Given the description of an element on the screen output the (x, y) to click on. 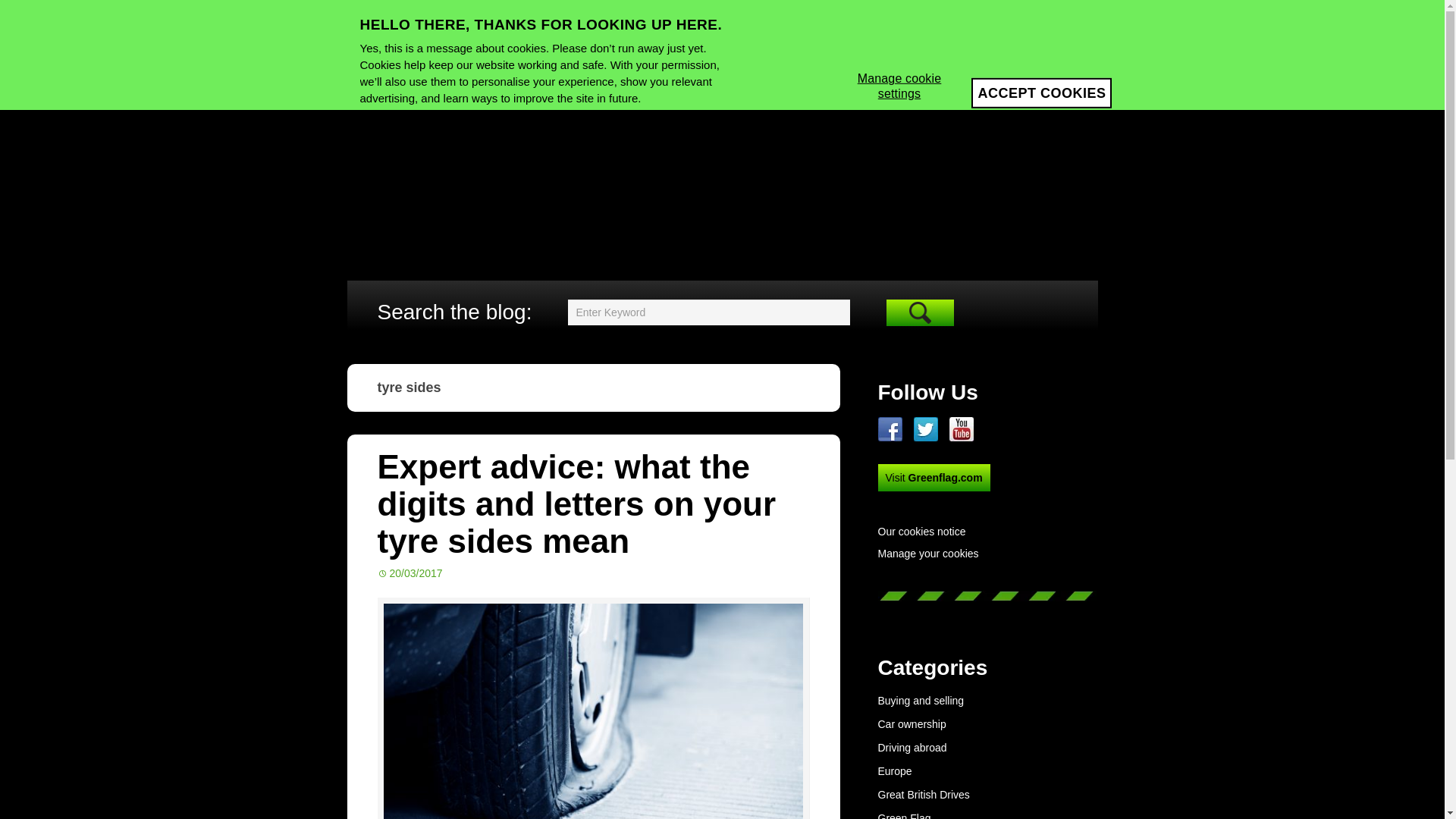
Our cookies notice (987, 531)
Visit Greenflag.com (933, 477)
Buying and selling (920, 700)
Search for: (707, 312)
Car ownership (911, 724)
Great British Drives (923, 794)
Manage cookie settings (899, 85)
Manage your cookies (927, 553)
7:07 AM (409, 573)
Driving abroad (912, 747)
